Given the description of an element on the screen output the (x, y) to click on. 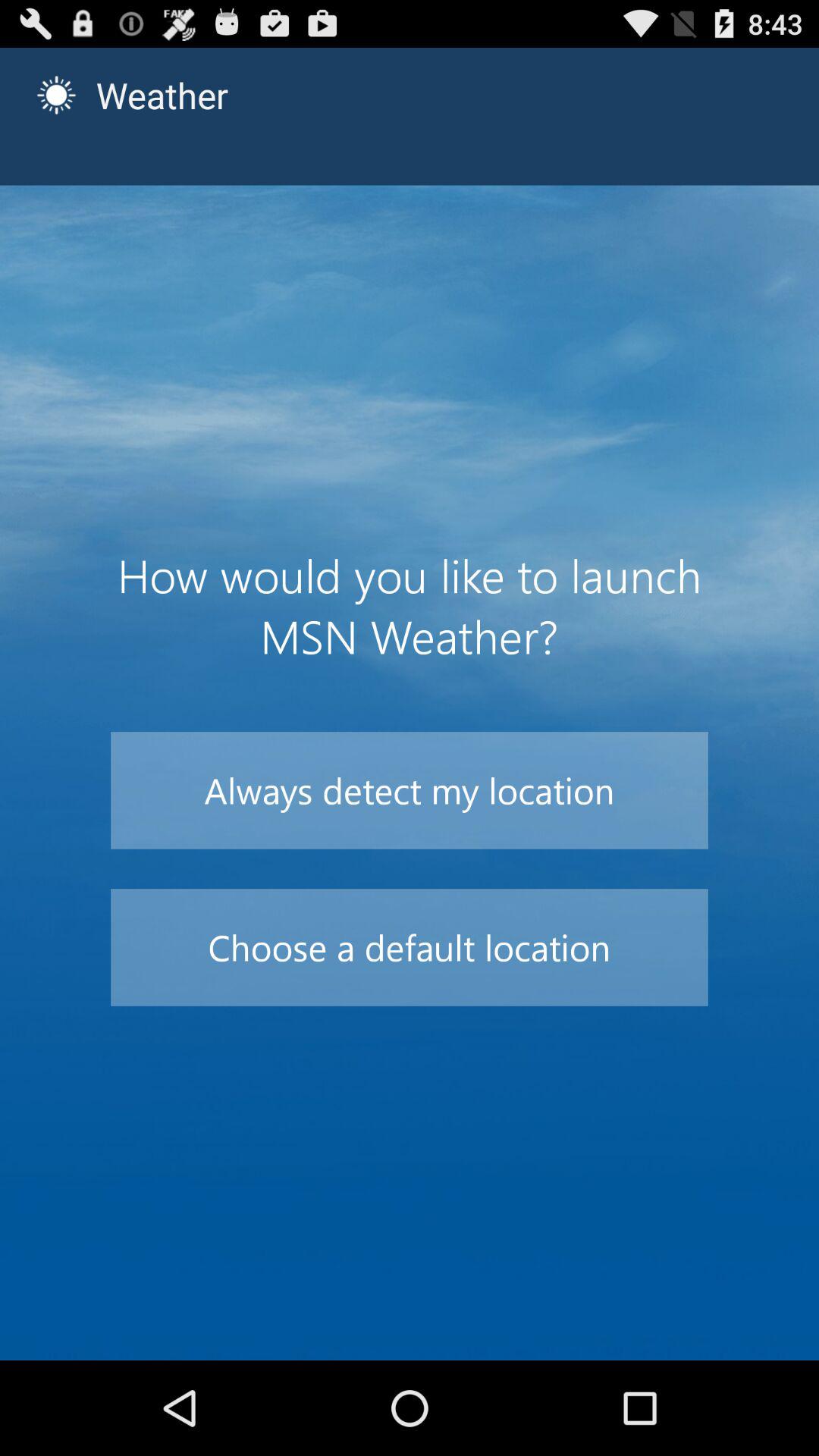
select item above the choose a default (409, 790)
